Given the description of an element on the screen output the (x, y) to click on. 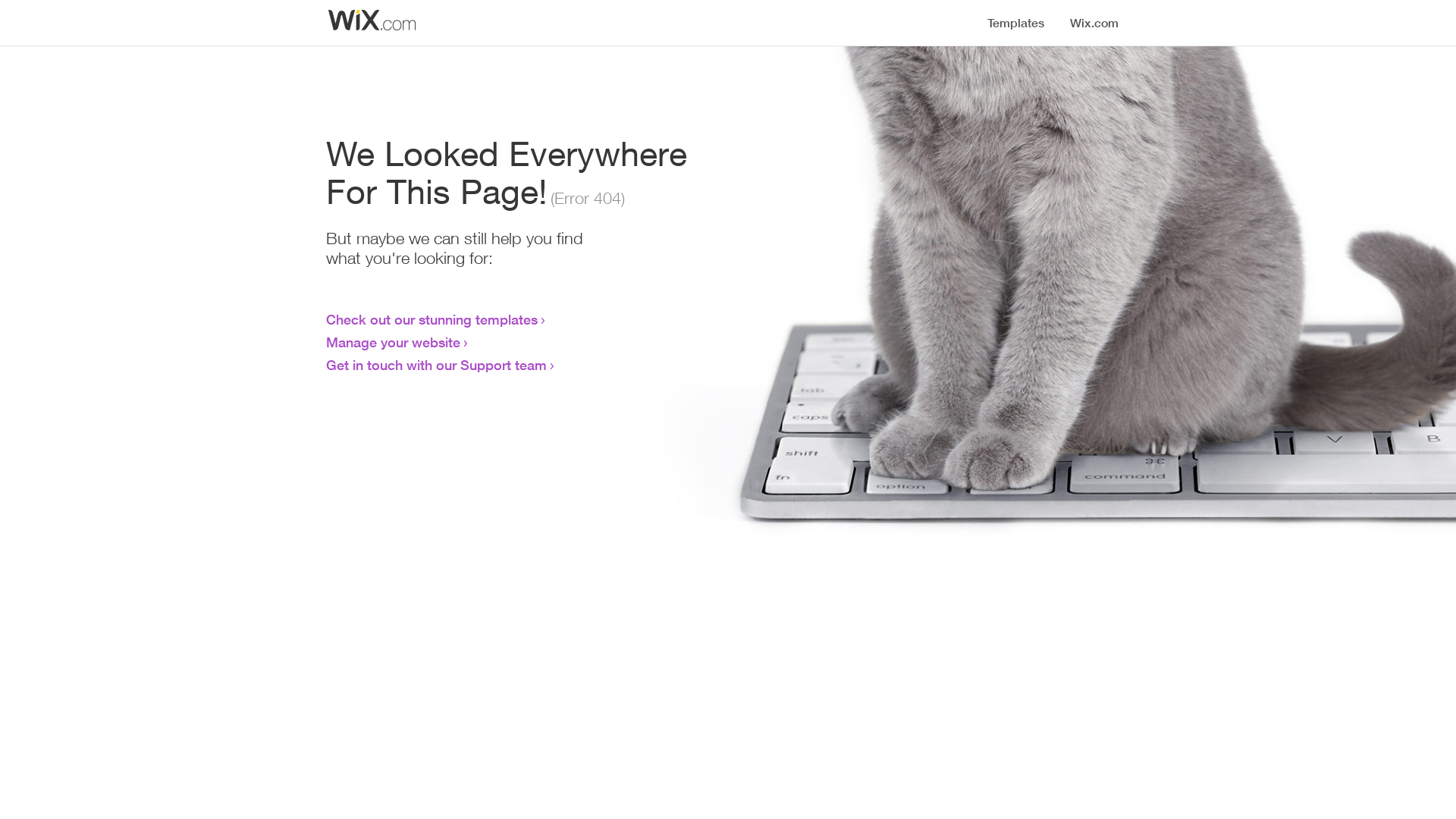
Check out our stunning templates Element type: text (431, 318)
Get in touch with our Support team Element type: text (436, 364)
Manage your website Element type: text (393, 341)
